Given the description of an element on the screen output the (x, y) to click on. 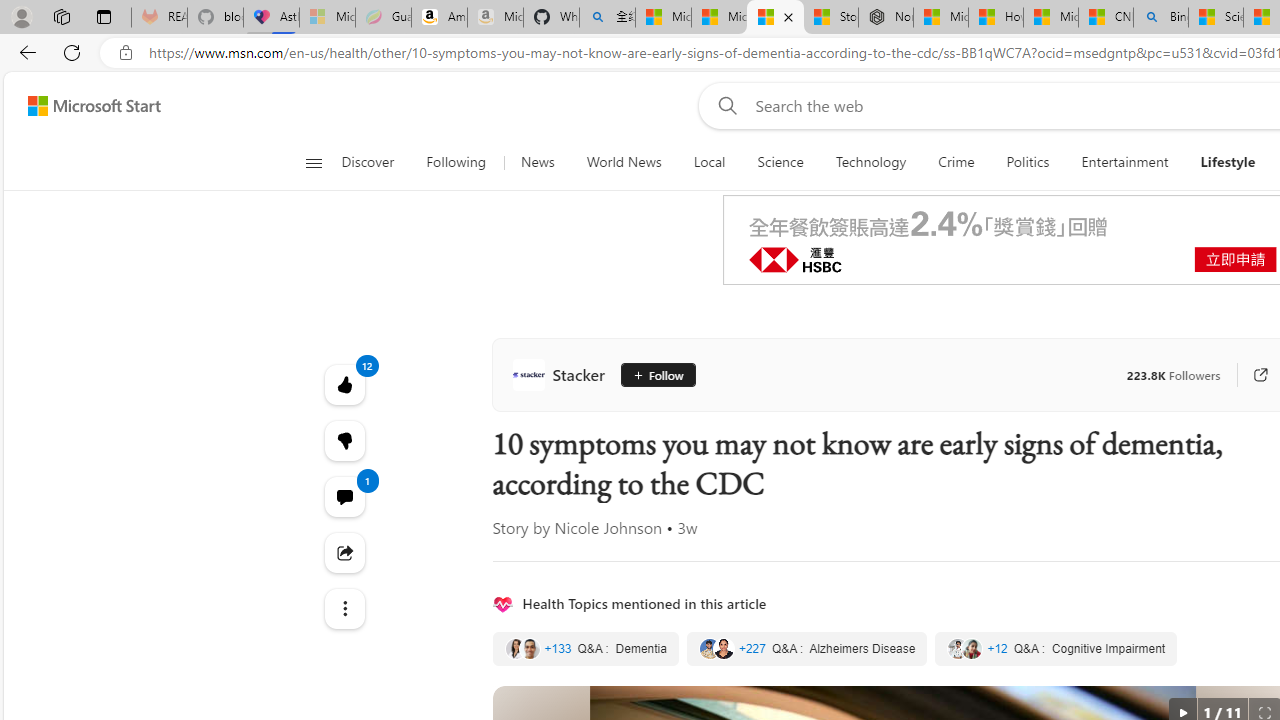
Alzheimers Disease (807, 649)
Cognitive Impairment (1055, 649)
Local (708, 162)
Crime (955, 162)
Microsoft-Report a Concern to Bing - Sleeping (326, 17)
Crime (956, 162)
Class: quote-thumbnail (972, 648)
Entertainment (1124, 162)
Entertainment (1124, 162)
